Given the description of an element on the screen output the (x, y) to click on. 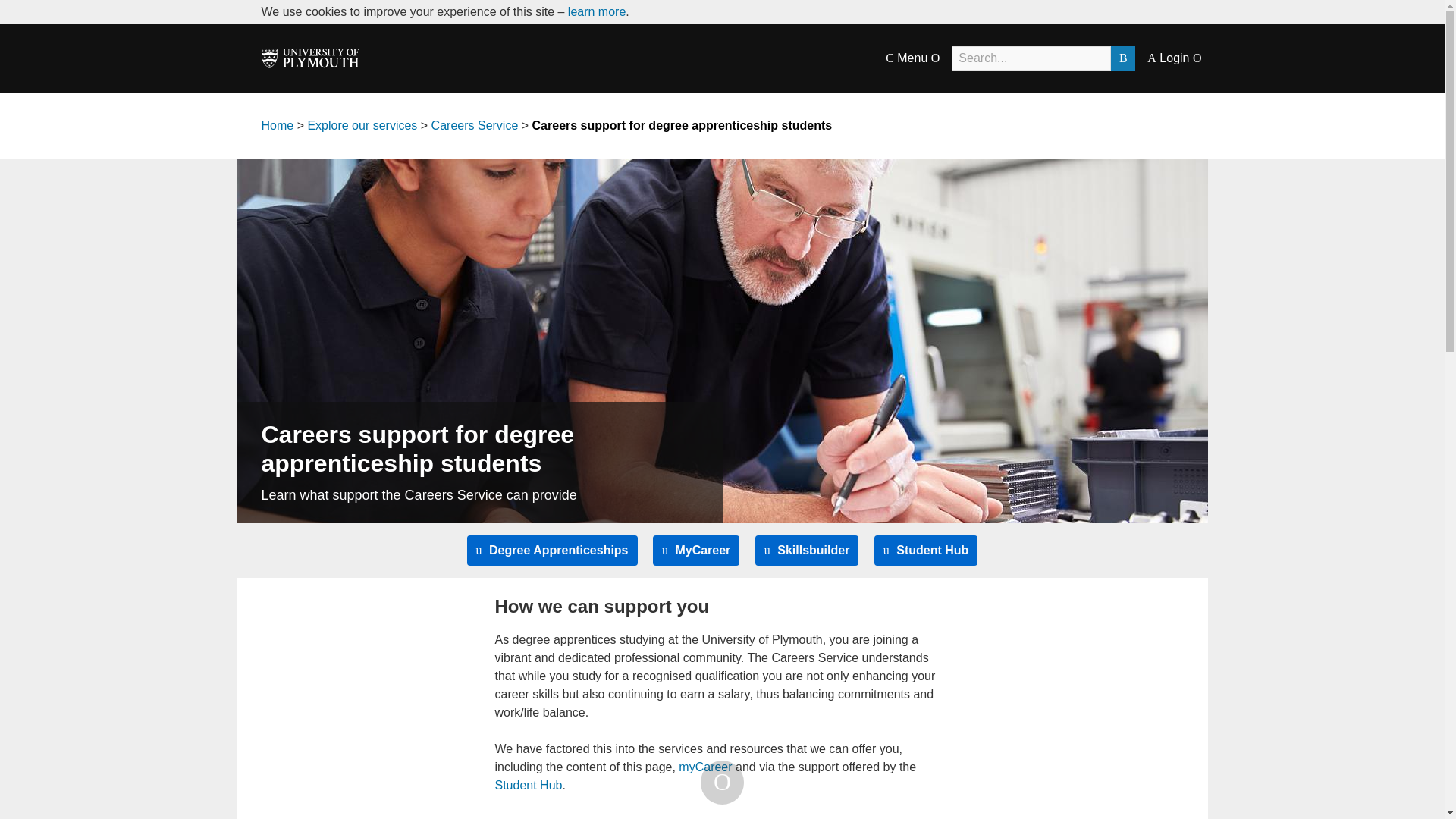
learn more (596, 11)
Student Hub (926, 550)
A Login O (1174, 58)
Degree Apprenticeships (552, 550)
Skillsbuilder (807, 550)
B (1122, 57)
MyCareer (695, 550)
C Menu O (911, 58)
